Given the description of an element on the screen output the (x, y) to click on. 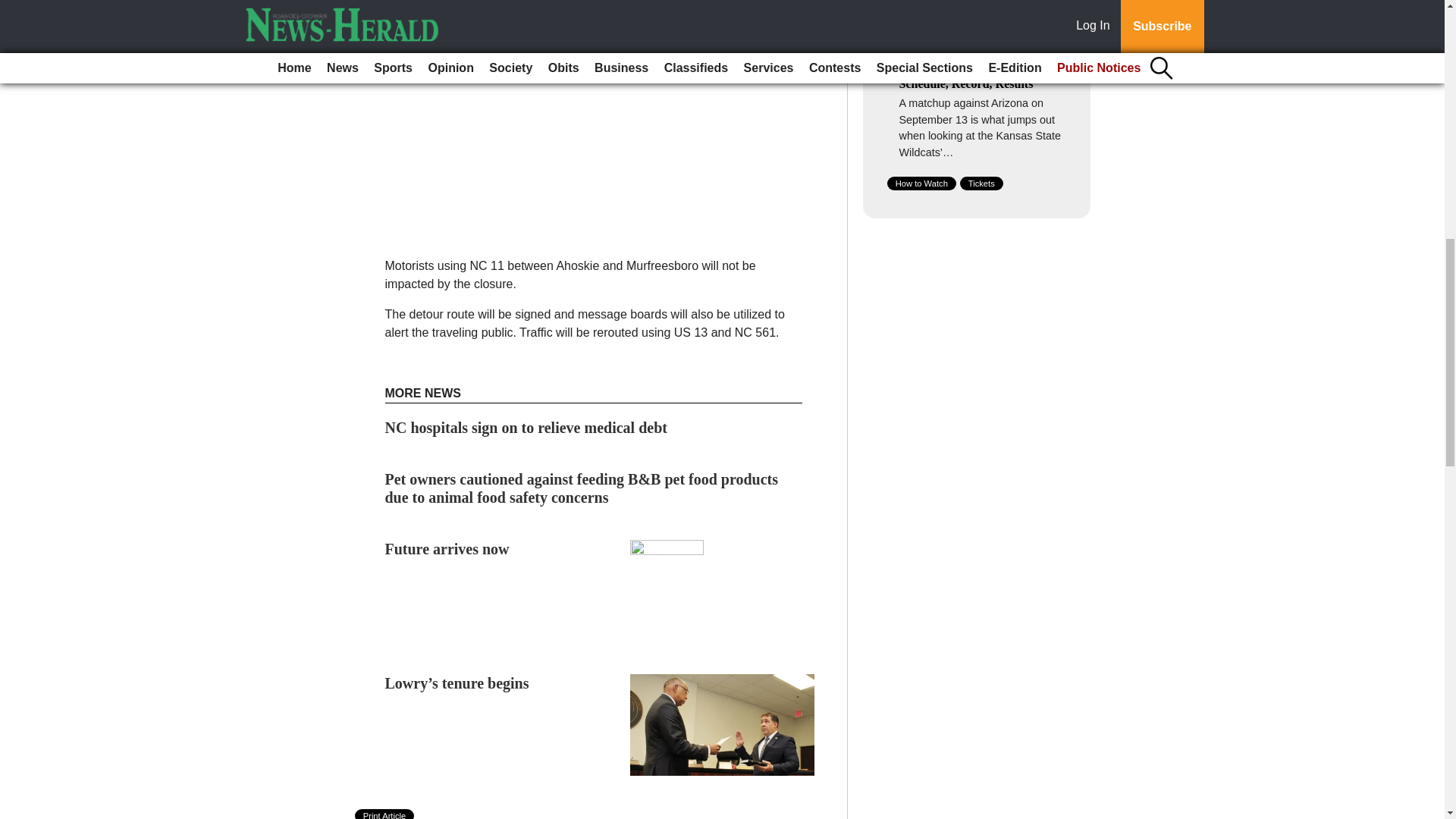
NC hospitals sign on to relieve medical debt (525, 427)
Future arrives now (447, 548)
Future arrives now (447, 548)
NC hospitals sign on to relieve medical debt (525, 427)
